Given the description of an element on the screen output the (x, y) to click on. 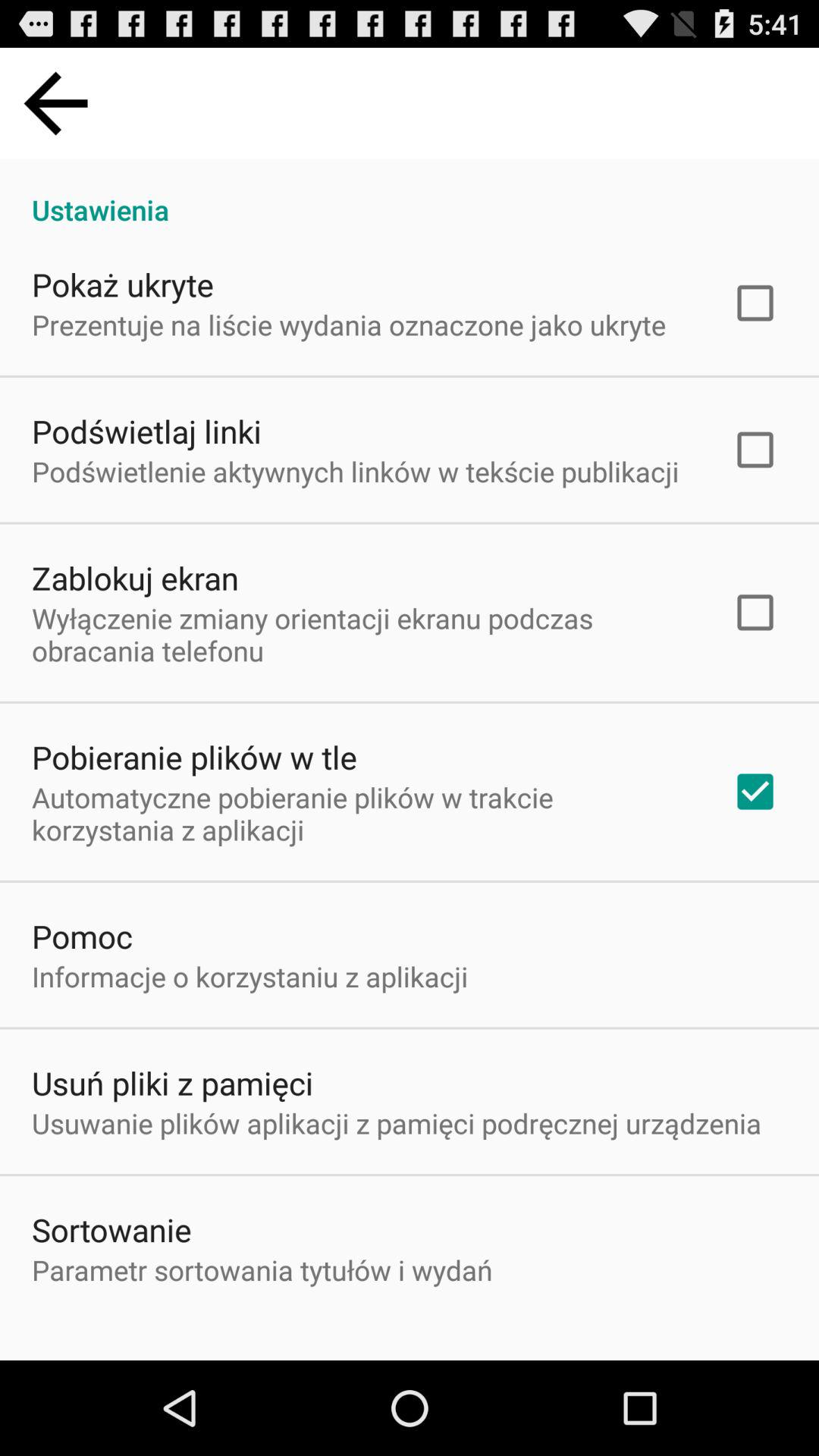
press pomoc item (81, 935)
